Given the description of an element on the screen output the (x, y) to click on. 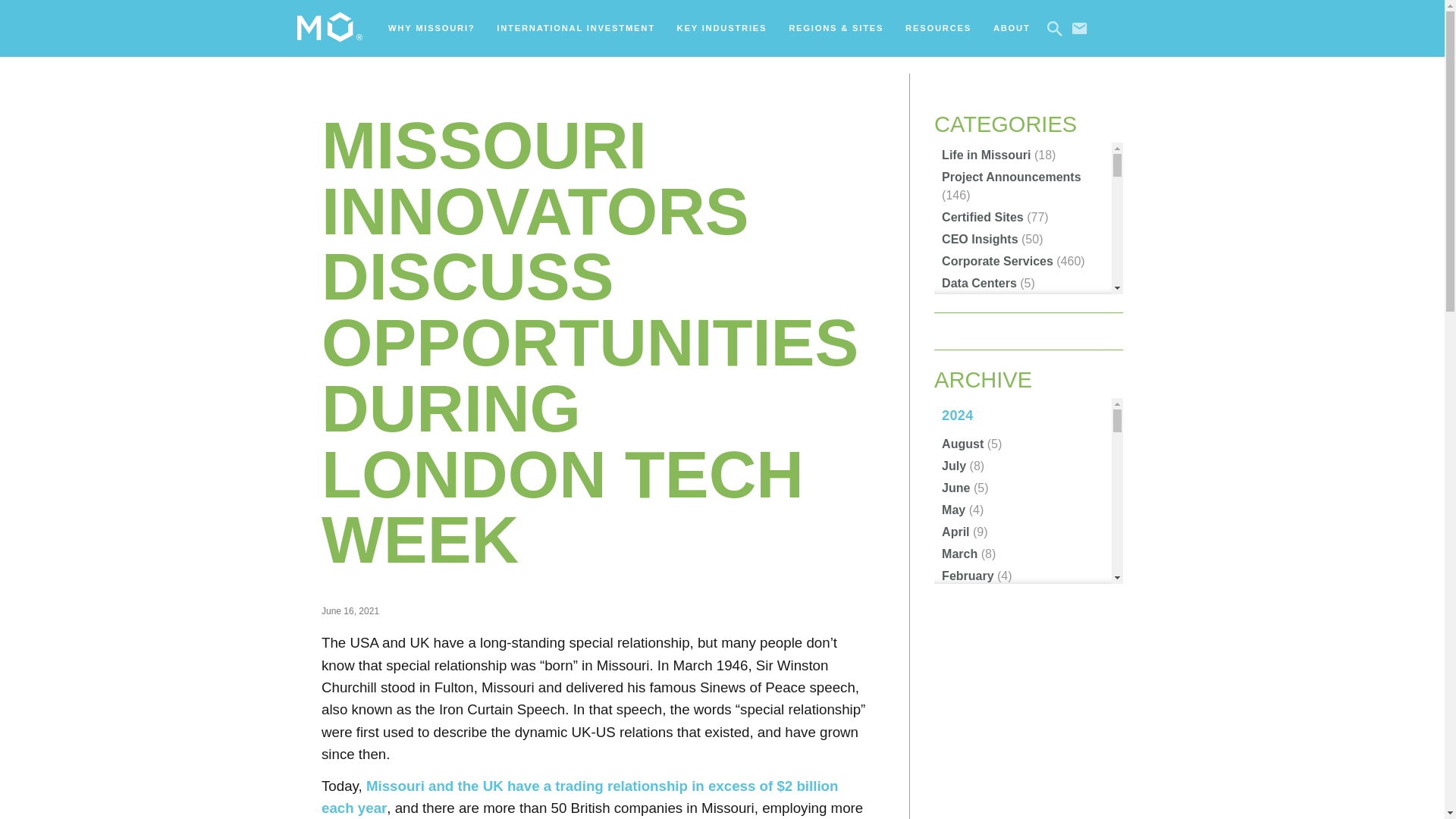
Missouri Partnership (329, 26)
WHY MISSOURI? (431, 27)
Missouri Partnership (329, 28)
INTERNATIONAL INVESTMENT (575, 27)
KEY INDUSTRIES (722, 27)
